Given the description of an element on the screen output the (x, y) to click on. 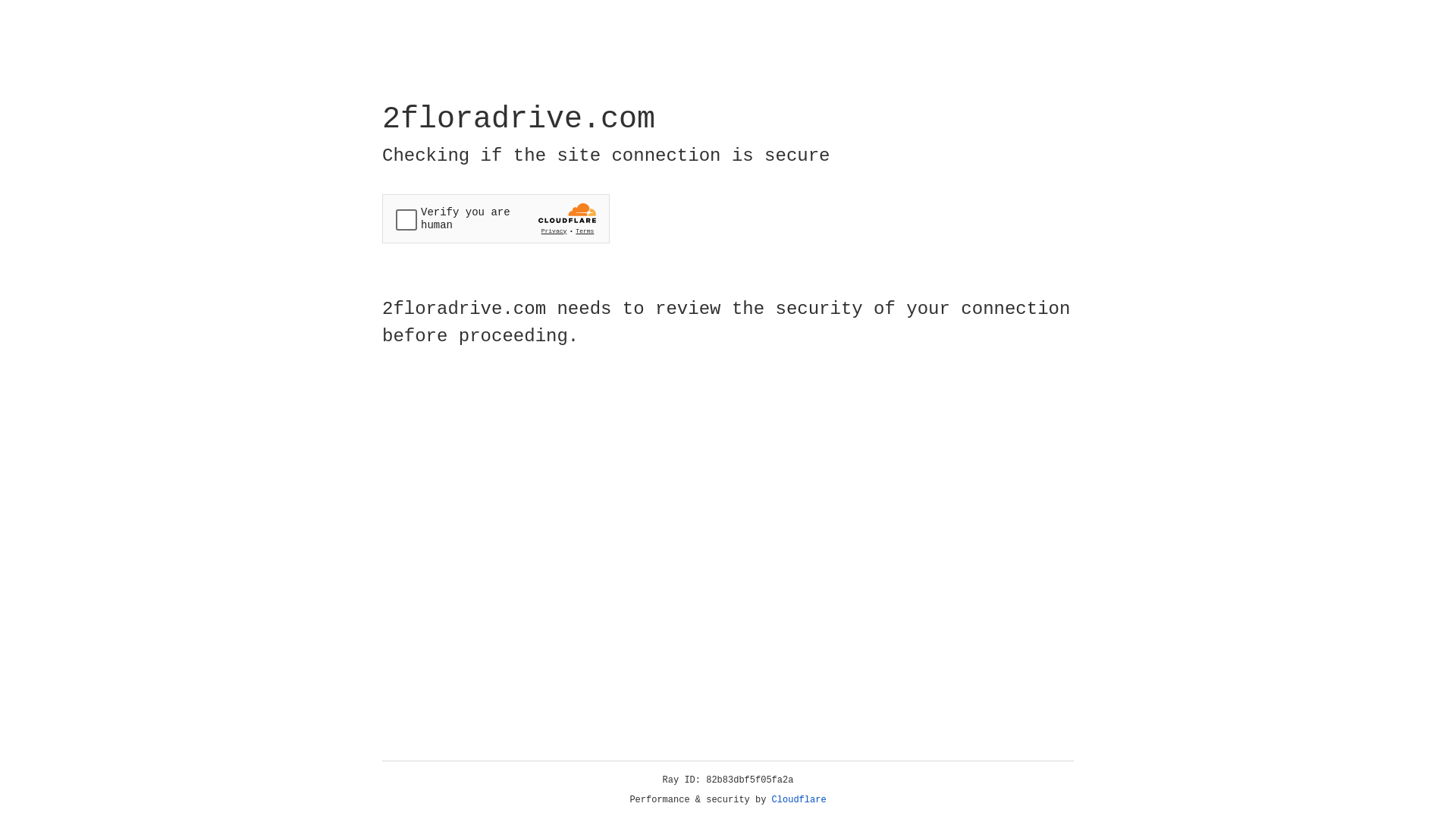
Cloudflare Element type: text (798, 799)
Widget containing a Cloudflare security challenge Element type: hover (495, 218)
